Given the description of an element on the screen output the (x, y) to click on. 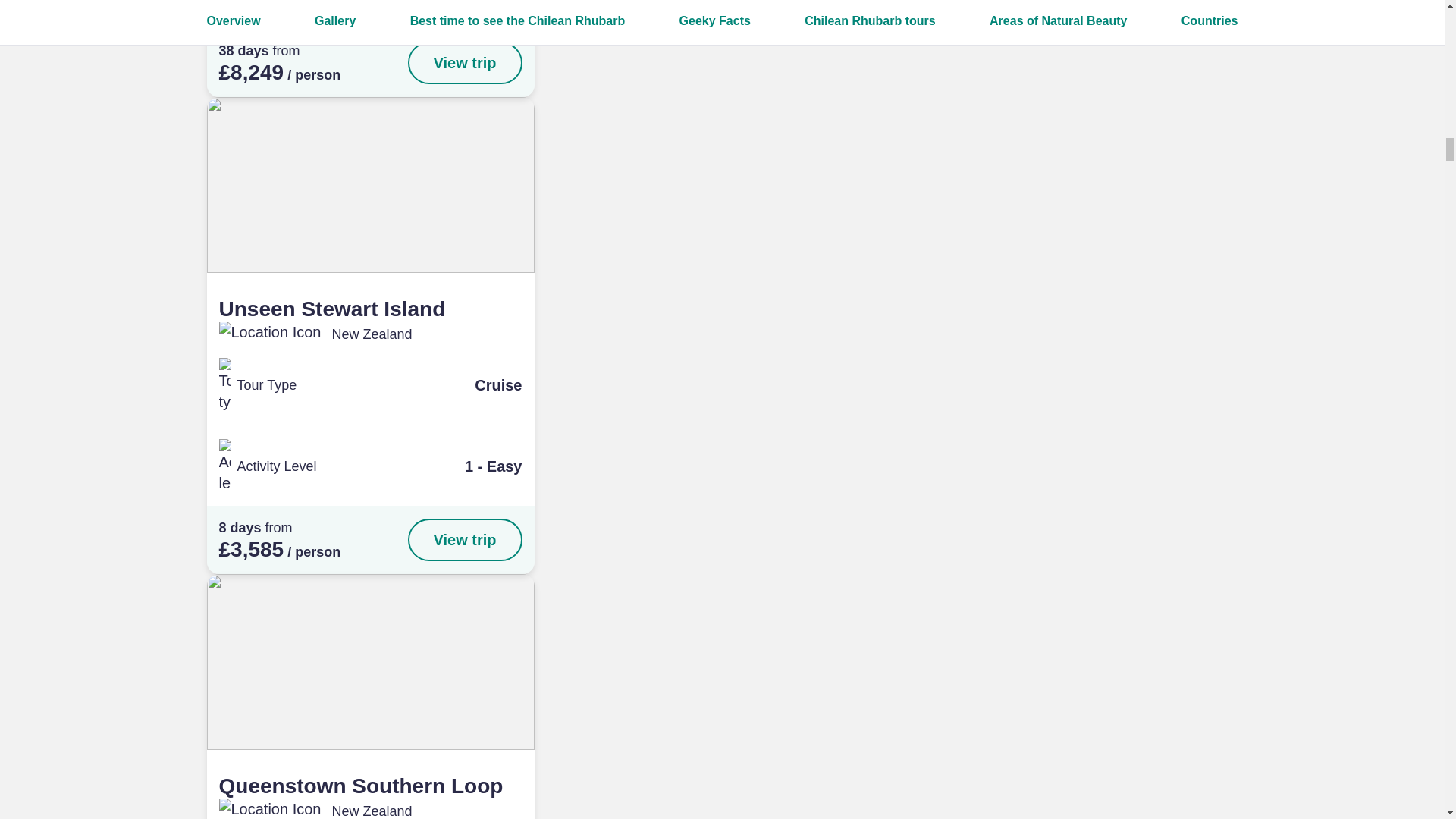
View trip (464, 62)
View trip (464, 539)
